Given the description of an element on the screen output the (x, y) to click on. 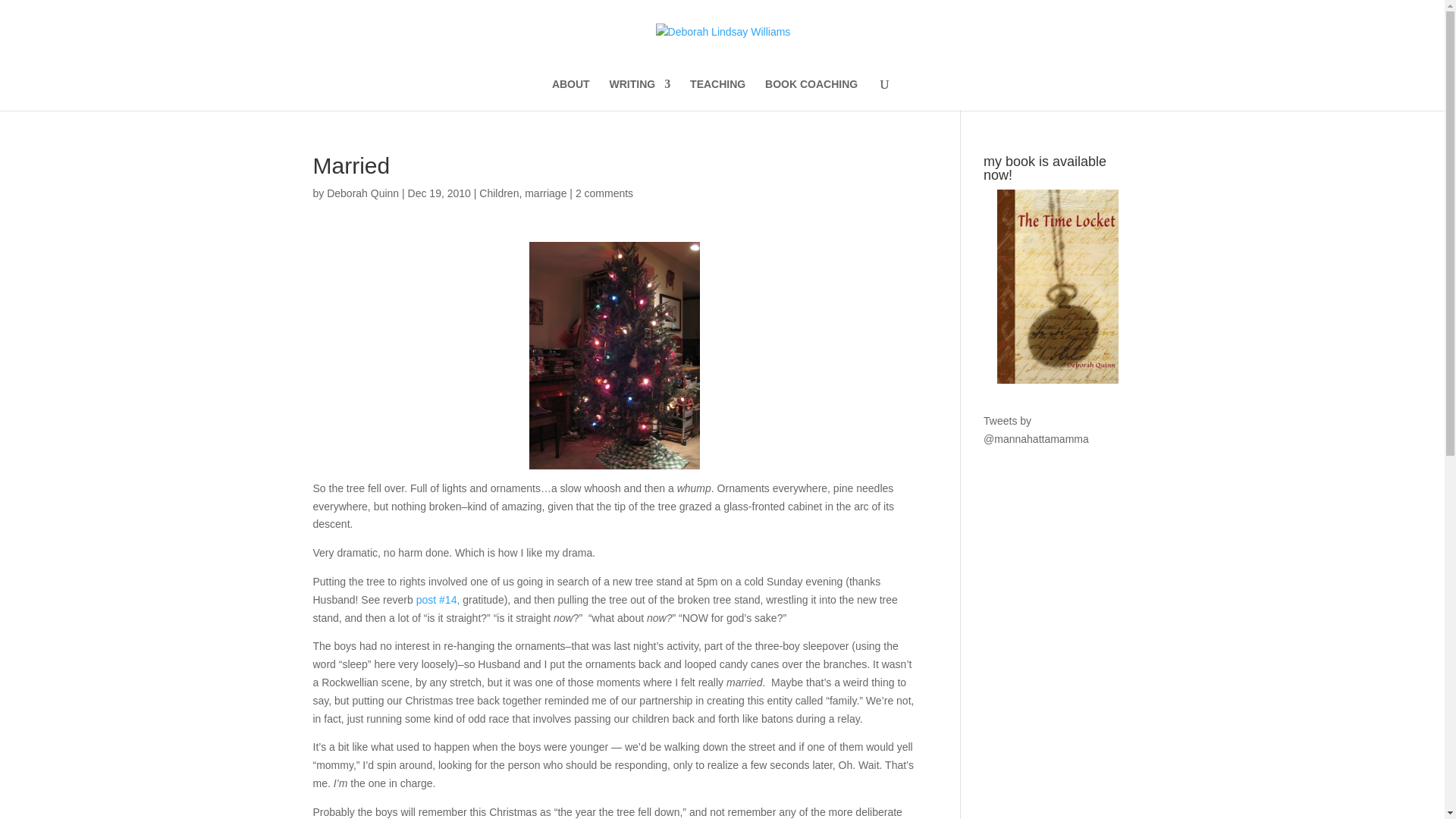
TEACHING (717, 94)
ABOUT (570, 94)
BOOK COACHING (811, 94)
WRITING (640, 94)
2 comments (604, 193)
marriage (545, 193)
Children (498, 193)
Deborah Quinn (362, 193)
Posts by Deborah Quinn (362, 193)
